Given the description of an element on the screen output the (x, y) to click on. 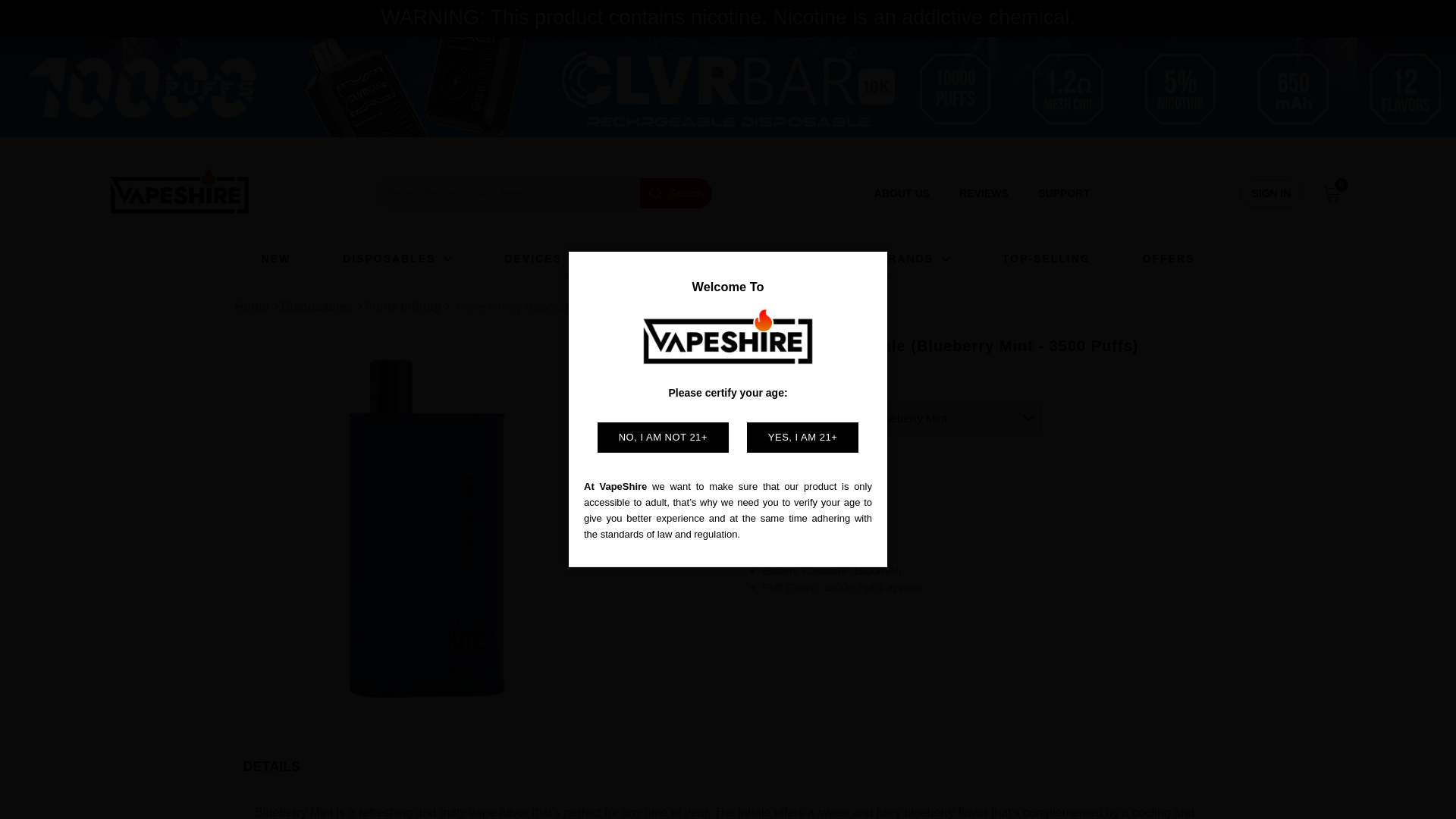
  Search (675, 193)
SIGN IN (1271, 193)
SUPPORT (1063, 193)
ABOUT US (902, 193)
REVIEWS (984, 193)
Go to Home Page (178, 193)
0 (1333, 192)
